Given the description of an element on the screen output the (x, y) to click on. 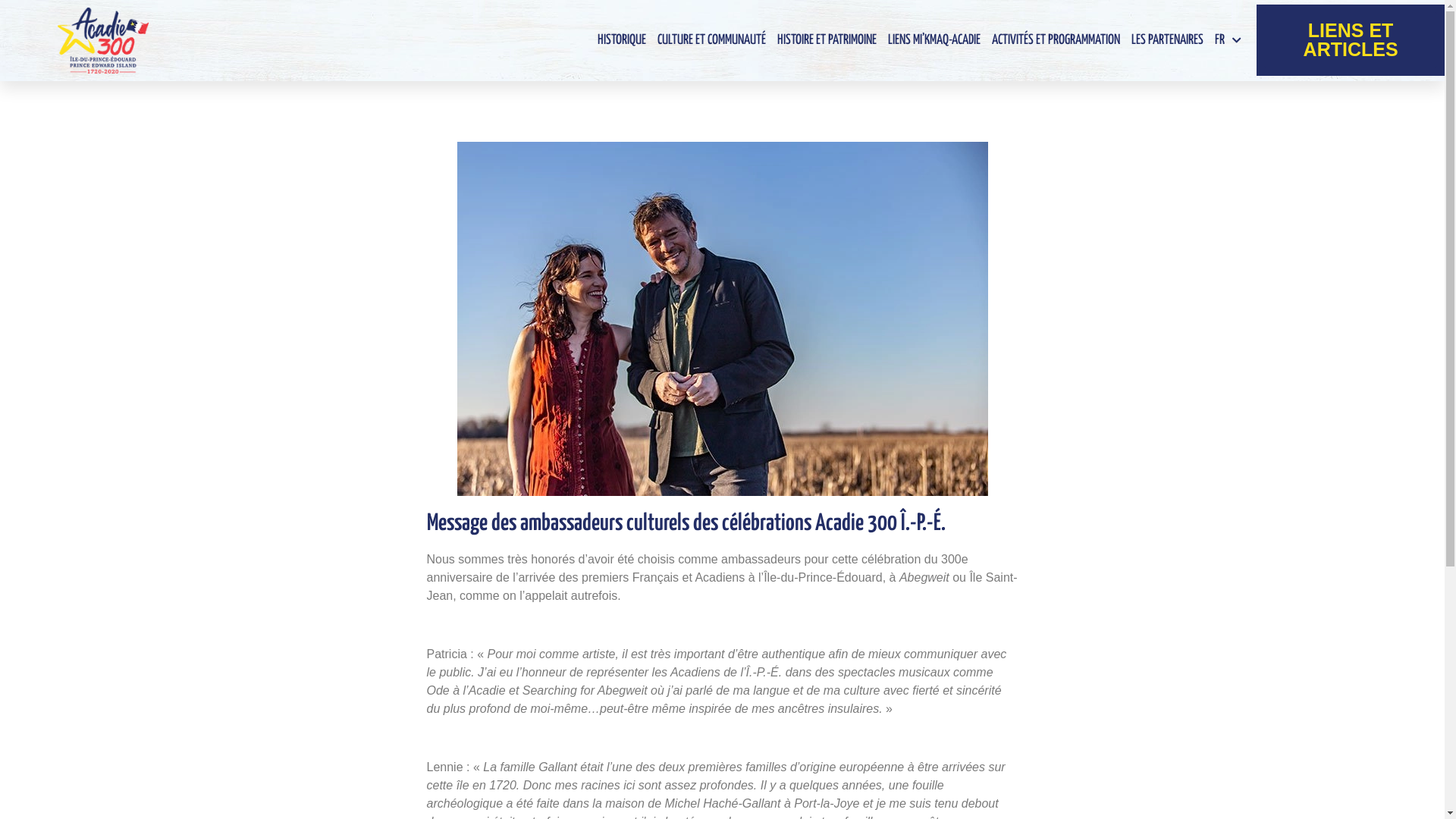
HISTOIRE ET PATRIMOINE Element type: text (826, 40)
LIENS ET ARTICLES Element type: text (1350, 40)
HISTORIQUE Element type: text (621, 40)
LES PARTENAIRES Element type: text (1167, 40)
FR Element type: text (1227, 40)
